Given the description of an element on the screen output the (x, y) to click on. 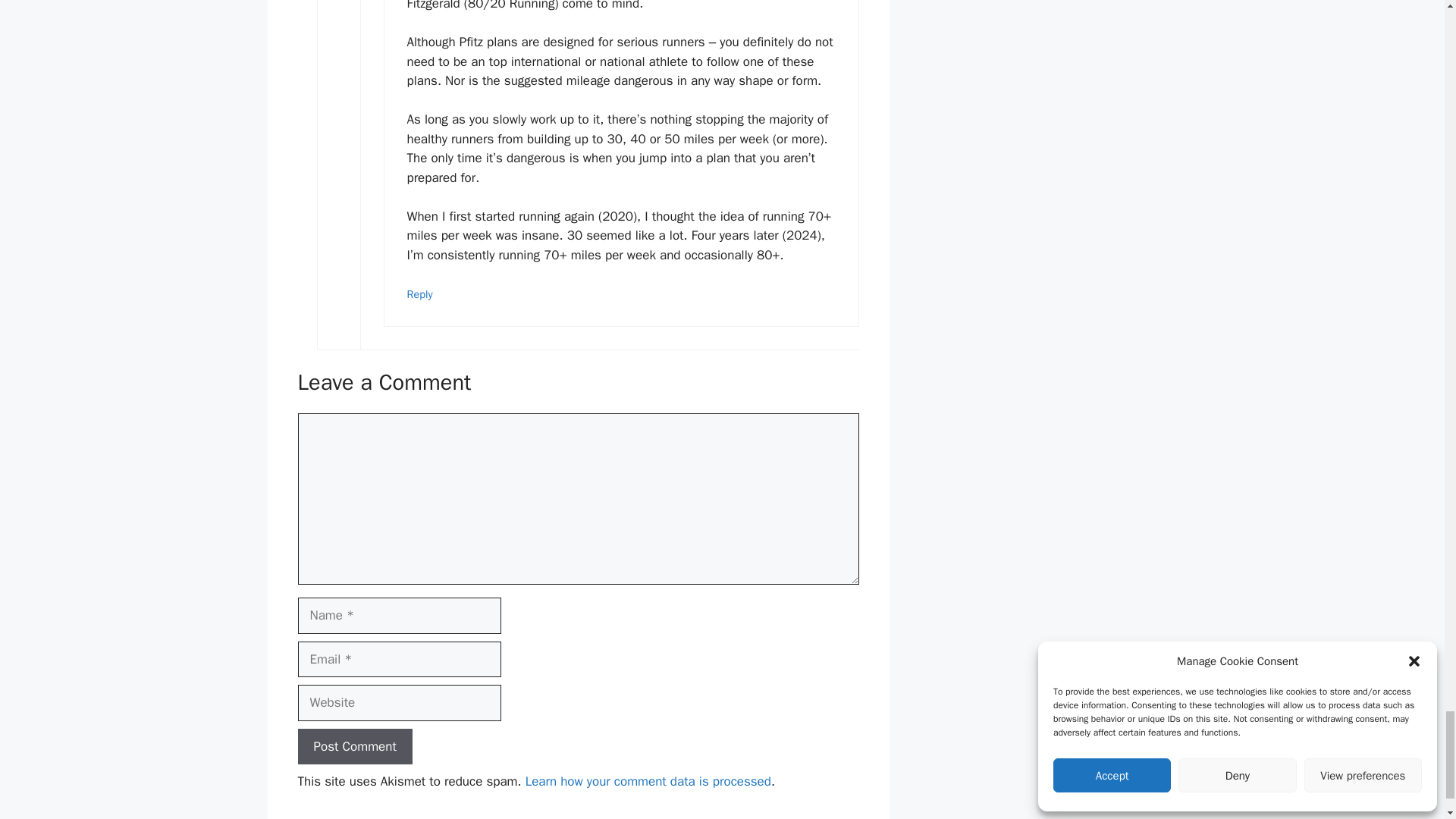
Post Comment (354, 746)
